Given the description of an element on the screen output the (x, y) to click on. 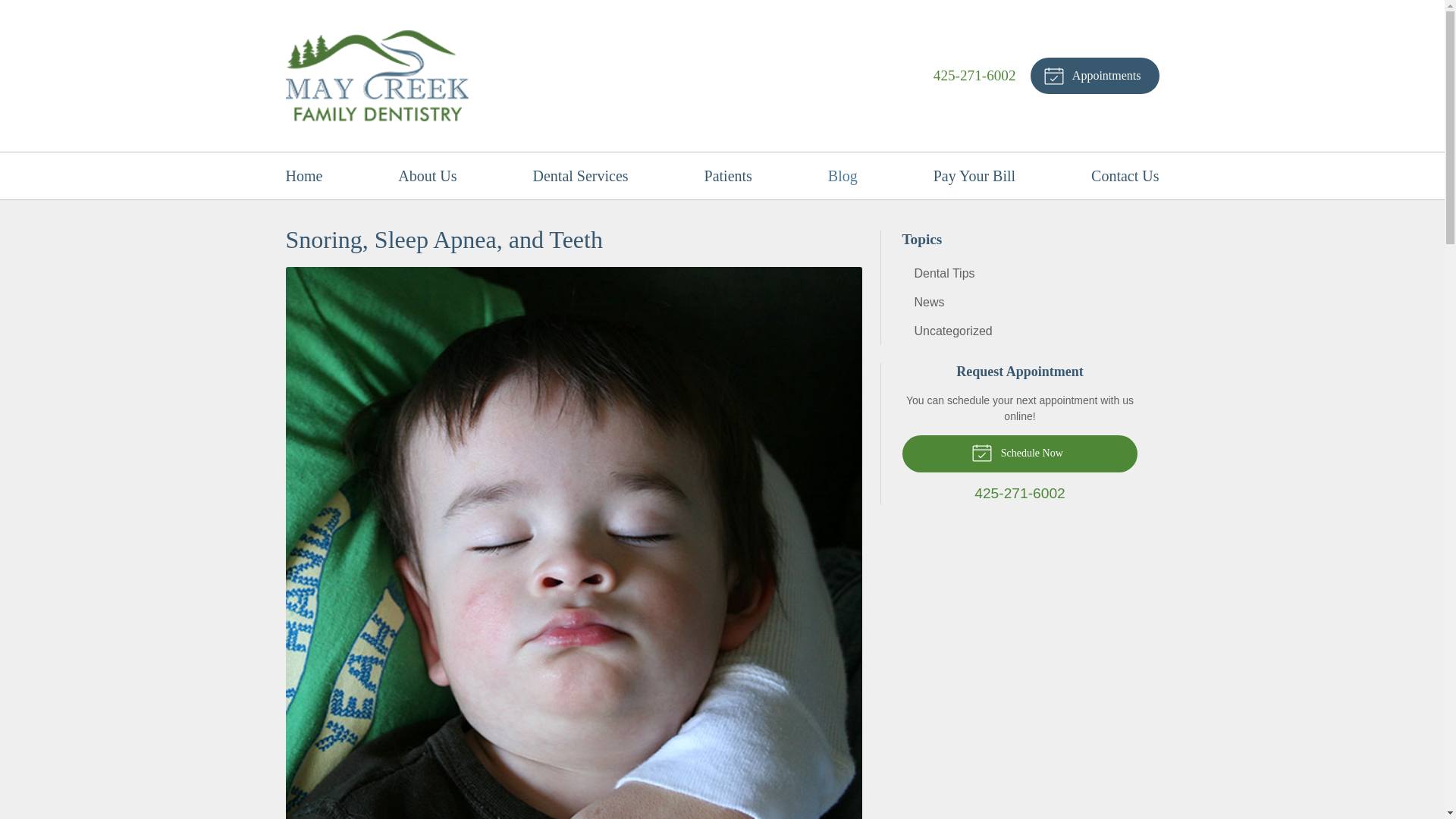
Home (303, 175)
Dental Tips (1020, 273)
Contact Us (1124, 175)
Schedule Now (1020, 453)
Call practice (1020, 494)
May Creek Family Dentistry (376, 75)
News (1020, 302)
Call practice (974, 75)
Dental Services (580, 175)
Pay Your Bill (973, 175)
425-271-6002 (974, 75)
Patients (728, 175)
Uncategorized (1020, 330)
Schedule Now (1020, 453)
Request Appointment (1094, 75)
